Given the description of an element on the screen output the (x, y) to click on. 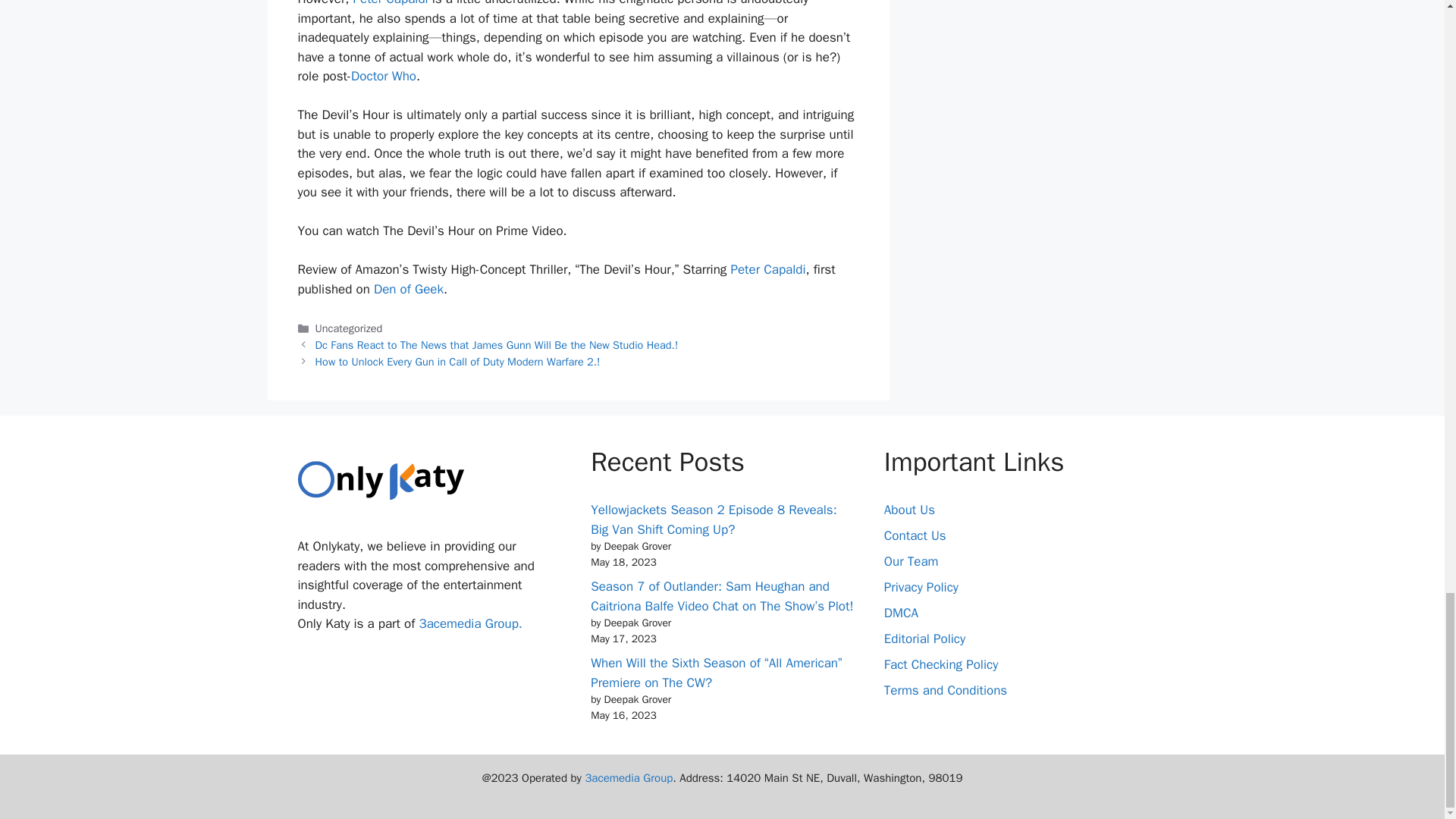
Contact Us (914, 535)
Den of Geek (409, 289)
Doctor Who (383, 75)
3acemedia Group. (470, 623)
Peter Capaldi (390, 3)
Our Team (911, 561)
DMCA (900, 612)
Privacy Policy (920, 587)
About Us (908, 509)
How to Unlock Every Gun in Call of Duty Modern Warfare 2.! (457, 361)
Peter Capaldi (767, 269)
